Given the description of an element on the screen output the (x, y) to click on. 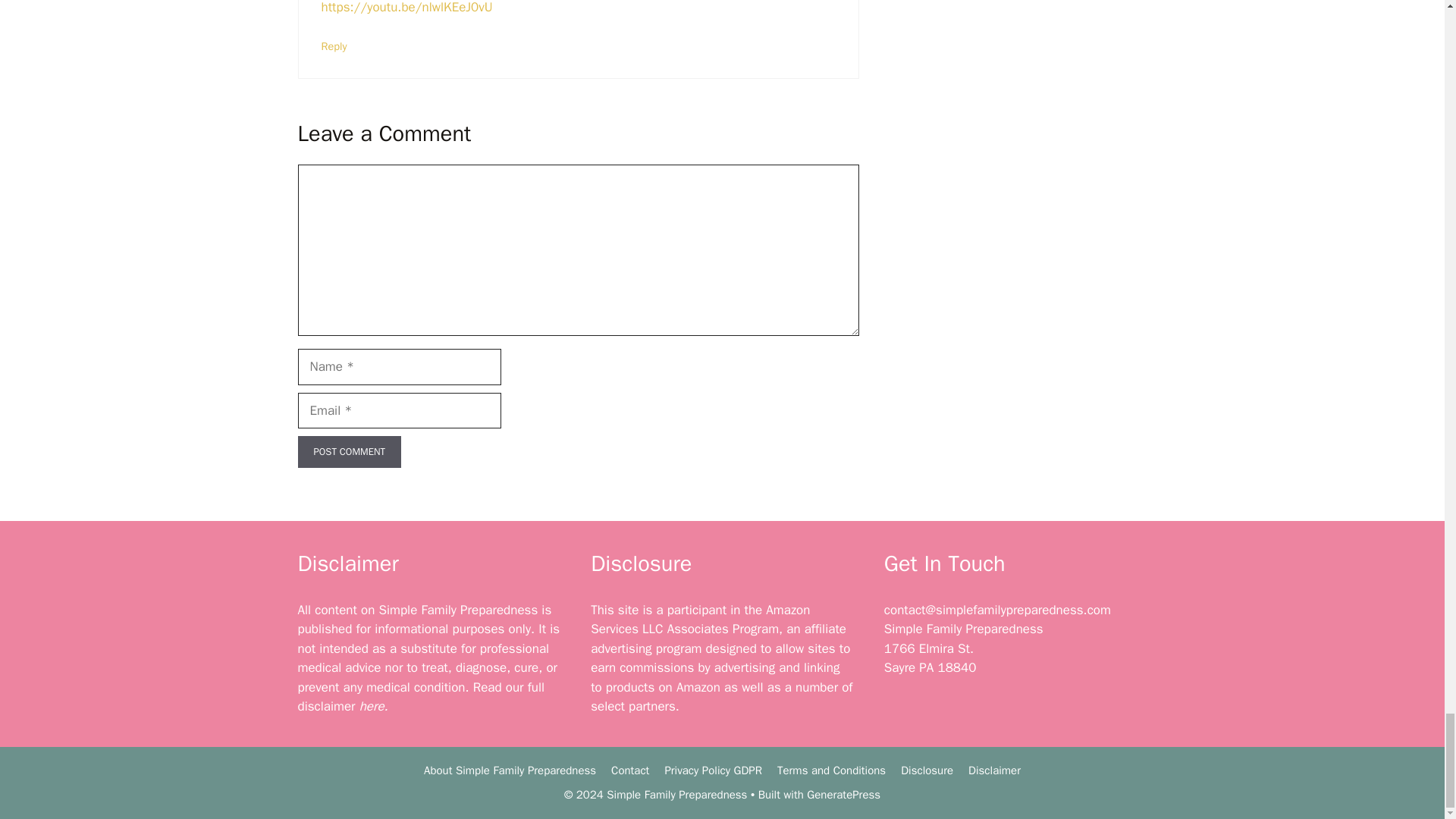
Reply (334, 46)
Post Comment (349, 451)
Post Comment (349, 451)
